Given the description of an element on the screen output the (x, y) to click on. 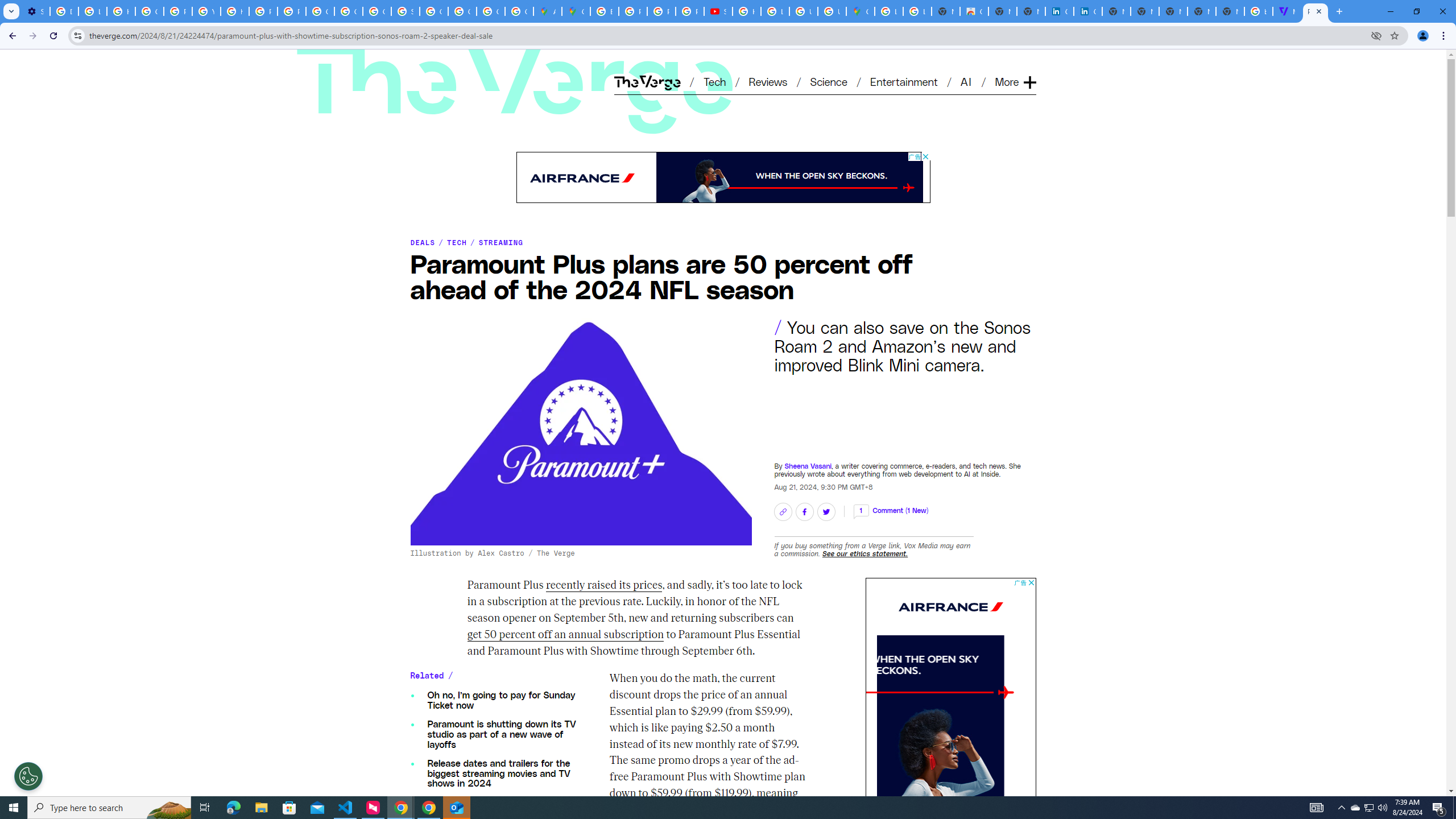
Google Account Help (148, 11)
An illustration of the Paramount Plus logo. (580, 431)
The Verge (515, 85)
Learn how to find your photos - Google Photos Help (92, 11)
Tech (714, 81)
Open Preferences (28, 776)
Privacy Help Center - Policies Help (178, 11)
Share on Twitter (825, 511)
Privacy Help Center - Policies Help (661, 11)
